Given the description of an element on the screen output the (x, y) to click on. 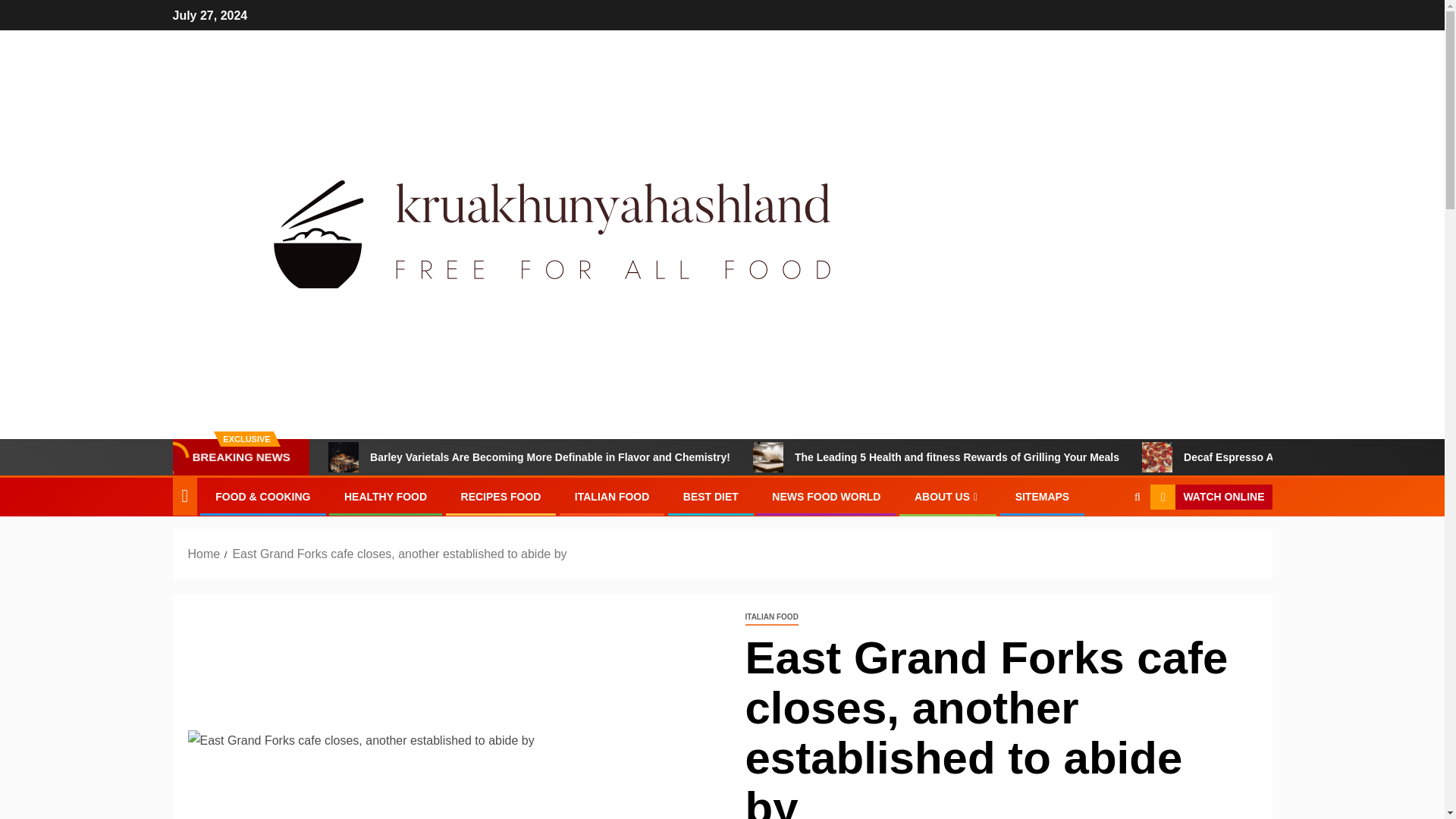
NEWS FOOD WORLD (825, 496)
Search (1107, 543)
ITALIAN FOOD (770, 617)
ABOUT US (947, 496)
Home (204, 553)
BEST DIET (710, 496)
Search (1136, 496)
WATCH ONLINE (1210, 497)
ITALIAN FOOD (612, 496)
HEALTHY FOOD (384, 496)
RECIPES FOOD (501, 496)
SITEMAPS (1042, 496)
